Given the description of an element on the screen output the (x, y) to click on. 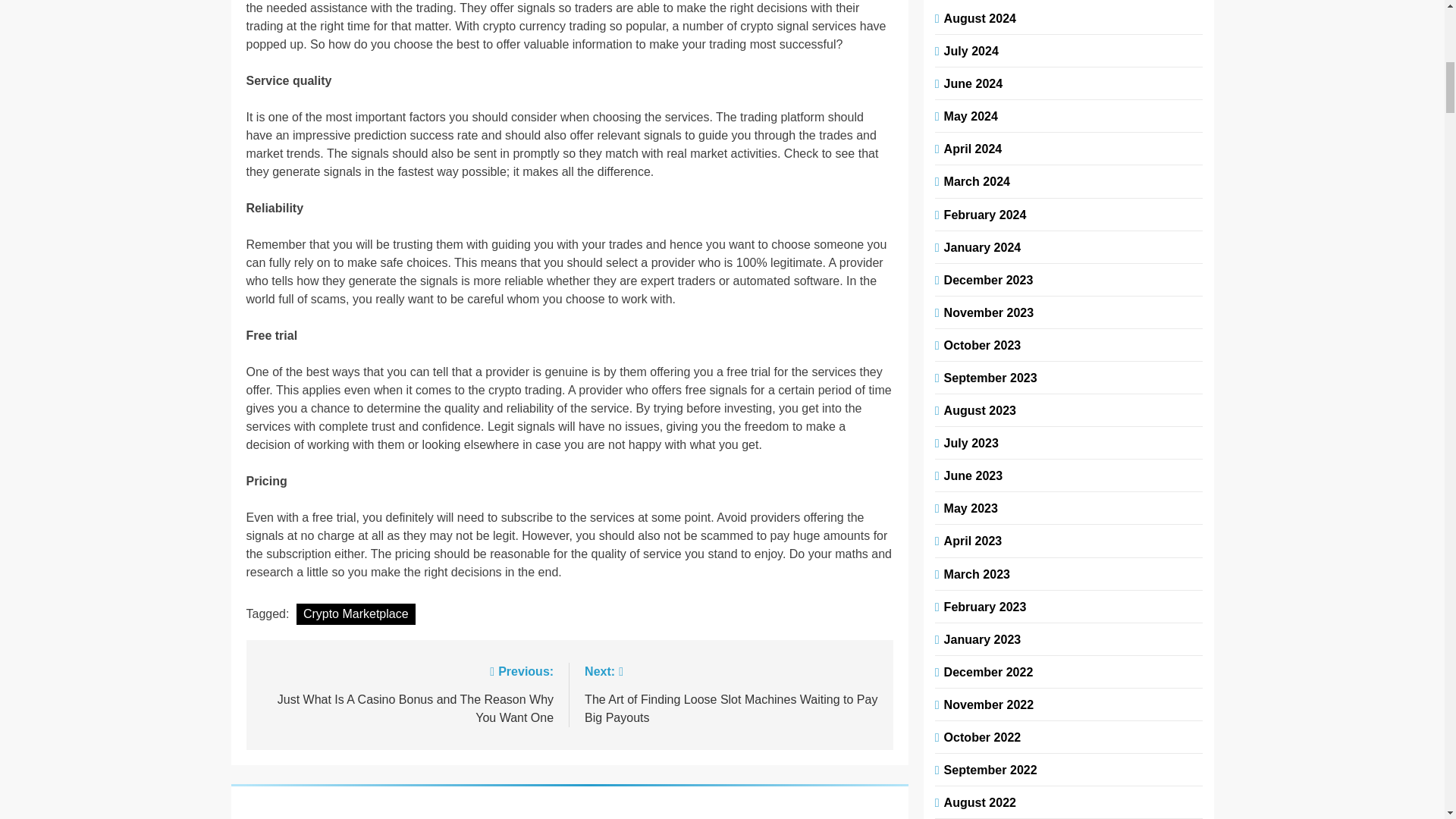
Crypto Marketplace (355, 613)
